Given the description of an element on the screen output the (x, y) to click on. 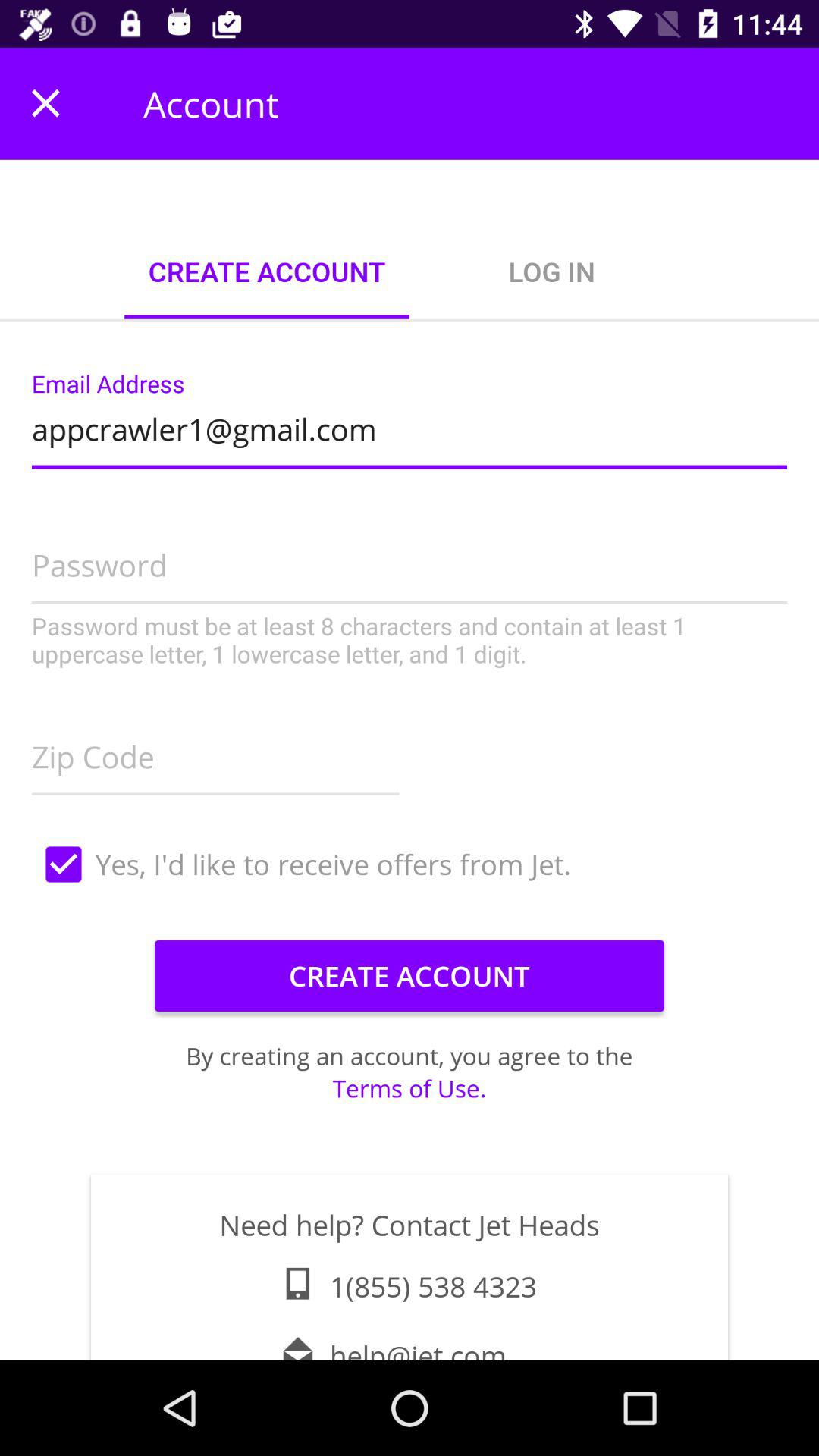
flip to the terms of use. item (409, 1088)
